Given the description of an element on the screen output the (x, y) to click on. 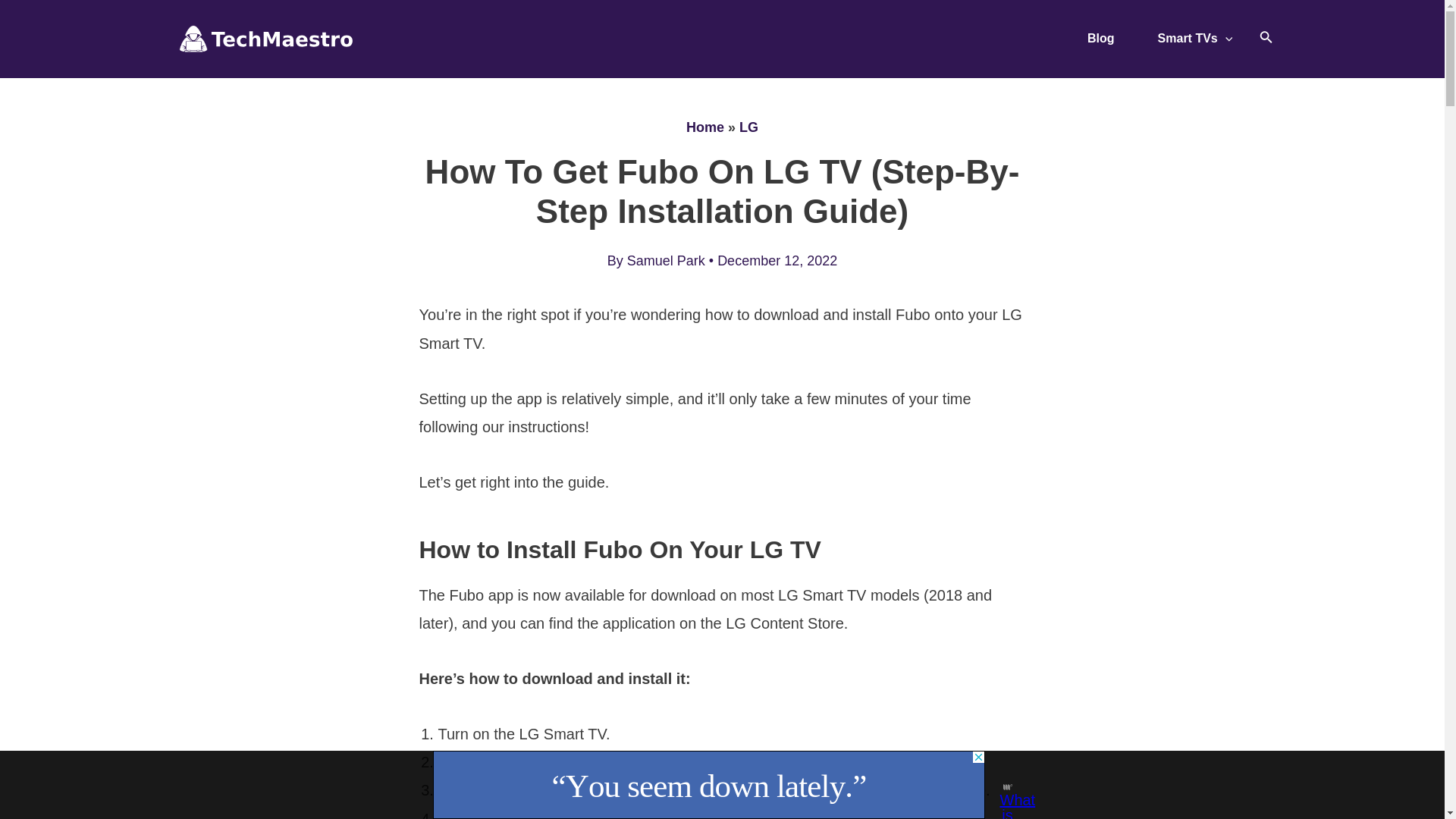
Samuel Park (668, 260)
LG (748, 127)
Home (704, 127)
3rd party ad content (708, 785)
View all posts by Samuel Park (668, 260)
Smart TVs (1194, 38)
